Given the description of an element on the screen output the (x, y) to click on. 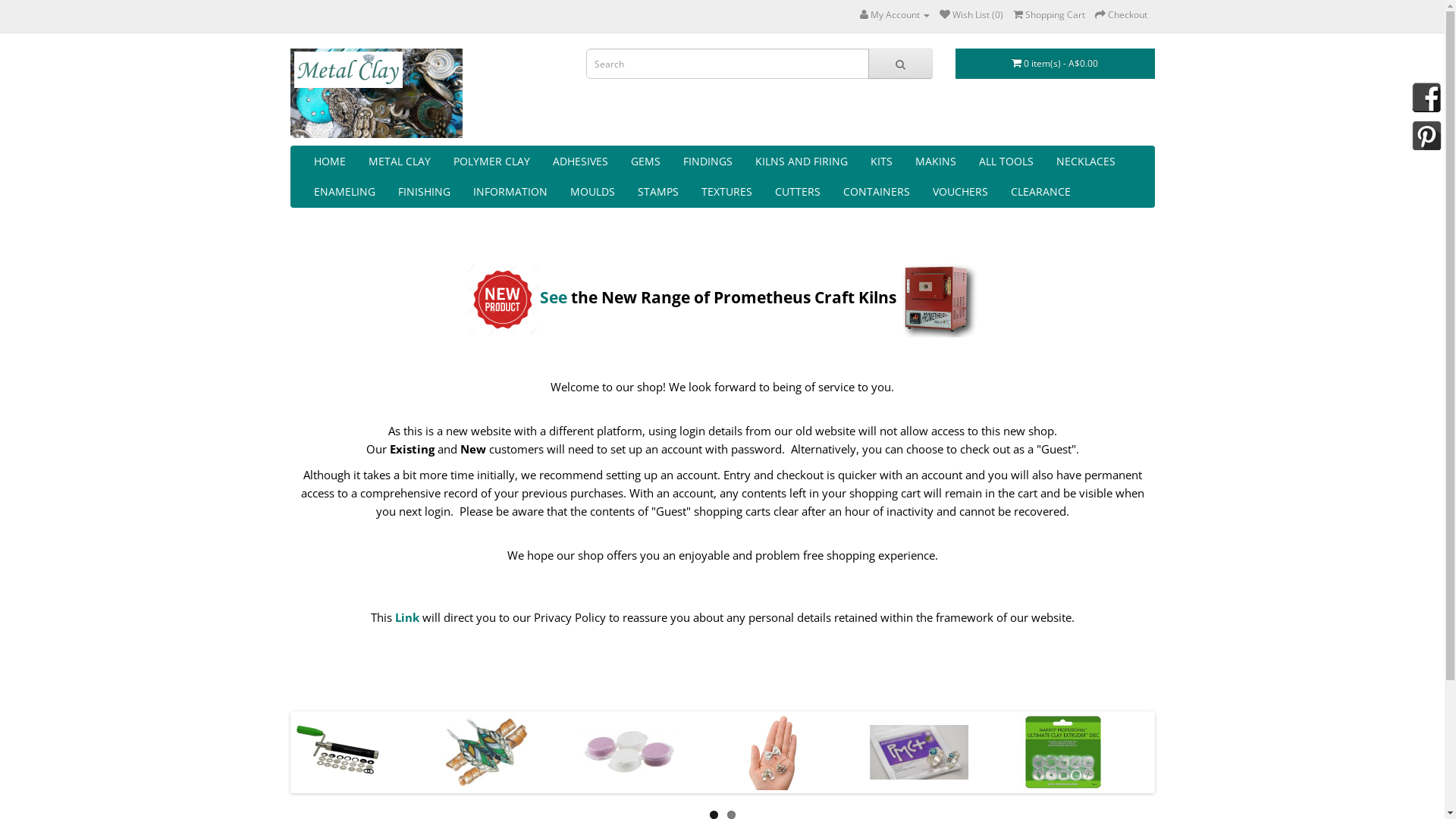
Wish List (0) Element type: text (970, 14)
METAL CLAY Element type: text (398, 161)
STAMPS Element type: text (658, 191)
CUTTERS Element type: text (796, 191)
Link Element type: text (406, 616)
My Account Element type: text (894, 14)
FINISHING Element type: text (423, 191)
ALL TOOLS Element type: text (1005, 161)
ENAMELING Element type: text (343, 191)
Shopping Cart Element type: text (1049, 14)
CLEARANCE Element type: text (1040, 191)
NECKLACES Element type: text (1085, 161)
Metalclay Element type: hover (375, 93)
CONTAINERS Element type: text (875, 191)
VOUCHERS Element type: text (959, 191)
TEXTURES Element type: text (726, 191)
HOME Element type: text (328, 161)
KILNS AND FIRING Element type: text (800, 161)
ADHESIVES Element type: text (580, 161)
POLYMER CLAY Element type: text (490, 161)
See Element type: text (553, 296)
MAKINS Element type: text (935, 161)
Checkout Element type: text (1121, 14)
MOULDS Element type: text (591, 191)
INFORMATION Element type: text (509, 191)
GEMS Element type: text (644, 161)
KITS Element type: text (880, 161)
FINDINGS Element type: text (707, 161)
0 item(s) - A$0.00 Element type: text (1054, 63)
